Given the description of an element on the screen output the (x, y) to click on. 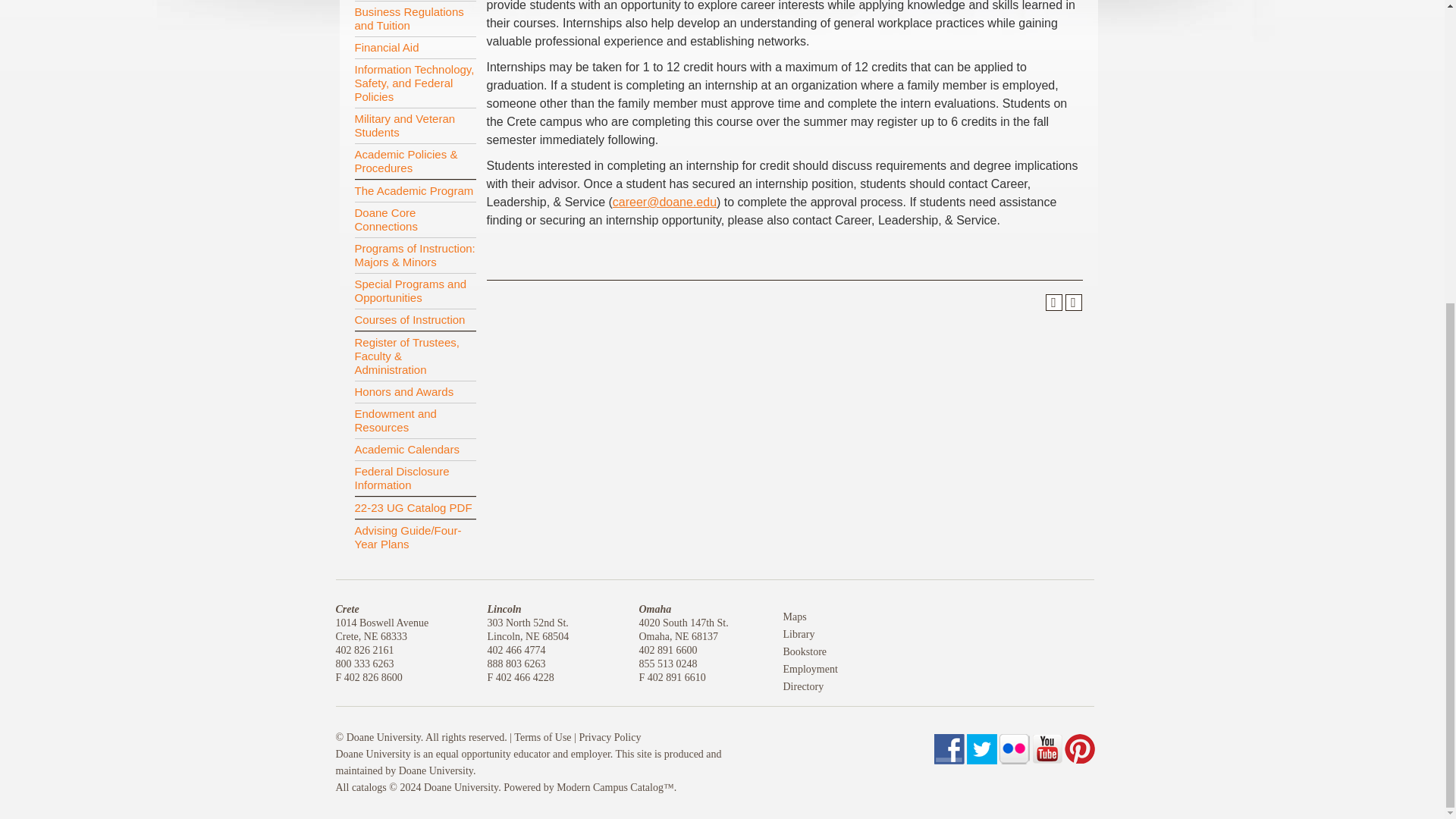
Business Regulations and Tuition (415, 18)
Honors and Awards (415, 391)
Academic Calendars (415, 449)
Endowment and Resources (415, 420)
Doane Core Connections (415, 219)
Federal Disclosure Information (415, 478)
Information Technology, Safety, and Federal Policies (415, 82)
22-23 UG Catalog PDF (415, 507)
Financial Aid (415, 47)
Military and Veteran Students (415, 125)
Special Programs and Opportunities (415, 290)
The Academic Program (415, 190)
Courses of Instruction (415, 319)
